Given the description of an element on the screen output the (x, y) to click on. 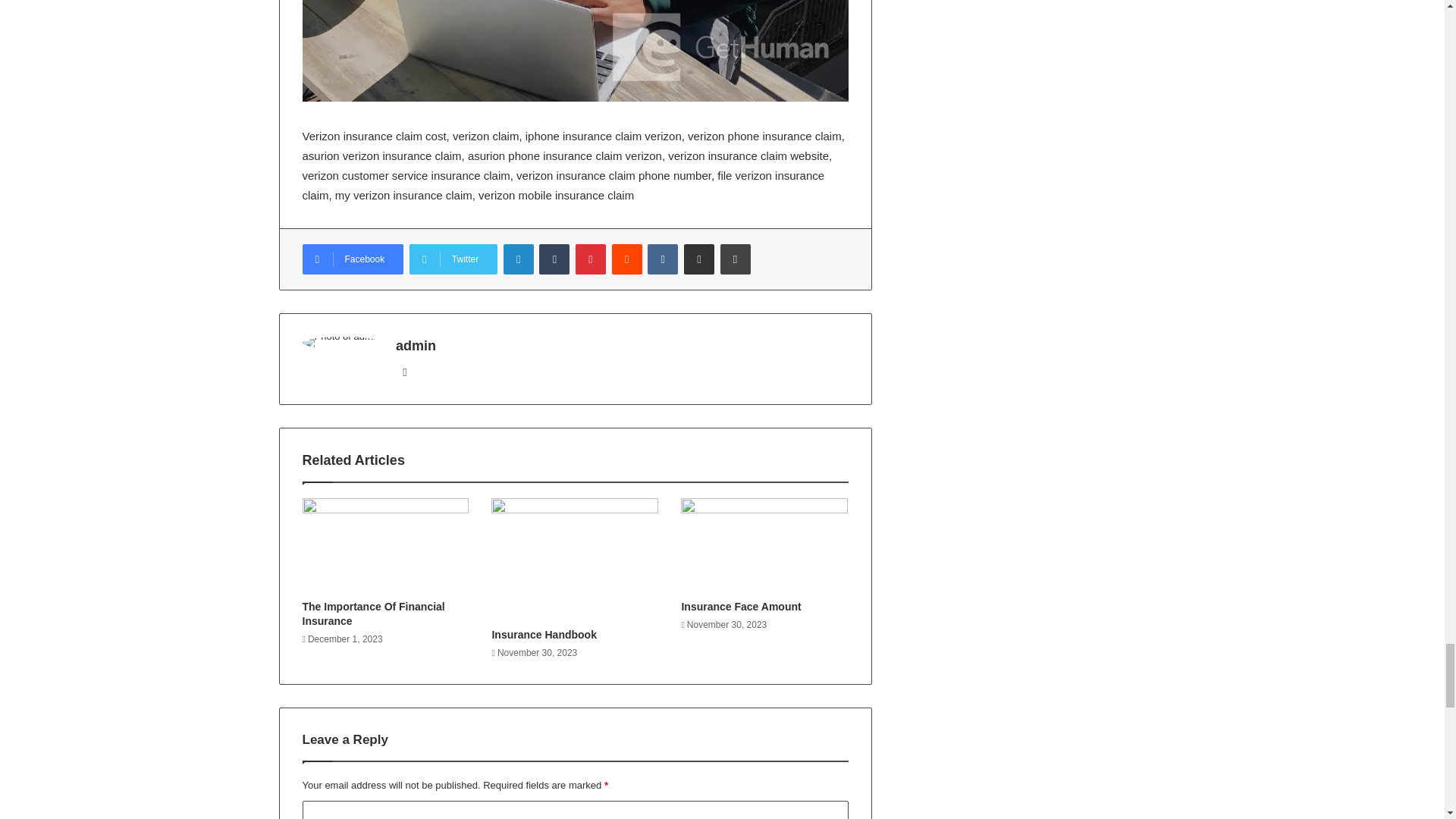
The Importance Of Financial Insurance (372, 613)
Website (404, 372)
Share via Email (699, 259)
Pinterest (590, 259)
Facebook (352, 259)
admin (415, 345)
Tumblr (553, 259)
Insurance Handbook (543, 634)
Print (735, 259)
Twitter (453, 259)
